Given the description of an element on the screen output the (x, y) to click on. 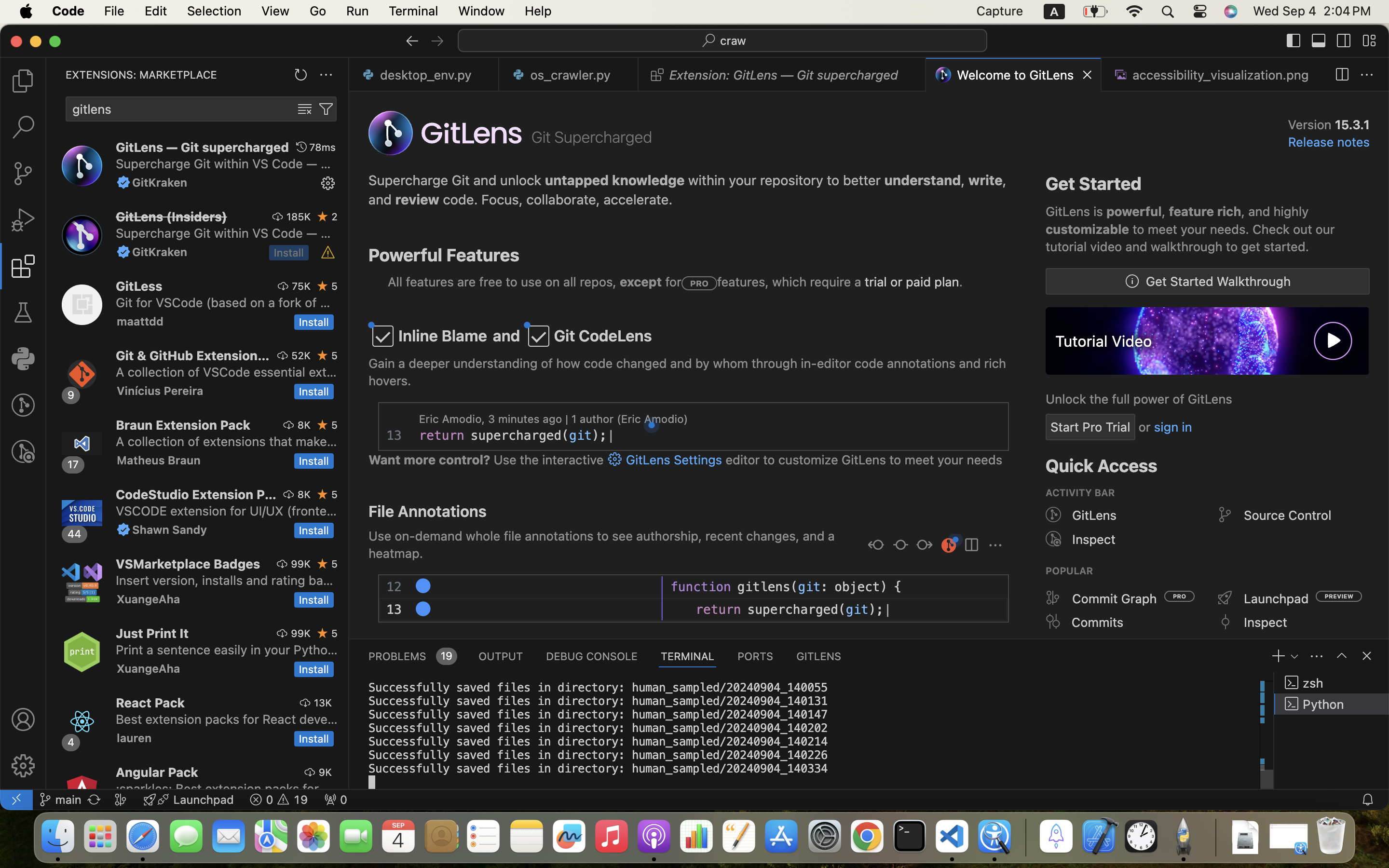
1  Element type: AXRadioButton (23, 266)
Source Control Element type: AXStaticText (1288, 515)
0 os_crawler.py   Element type: AXRadioButton (568, 74)
Launchpad Element type: AXStaticText (1276, 598)
185K Element type: AXStaticText (298, 216)
